Given the description of an element on the screen output the (x, y) to click on. 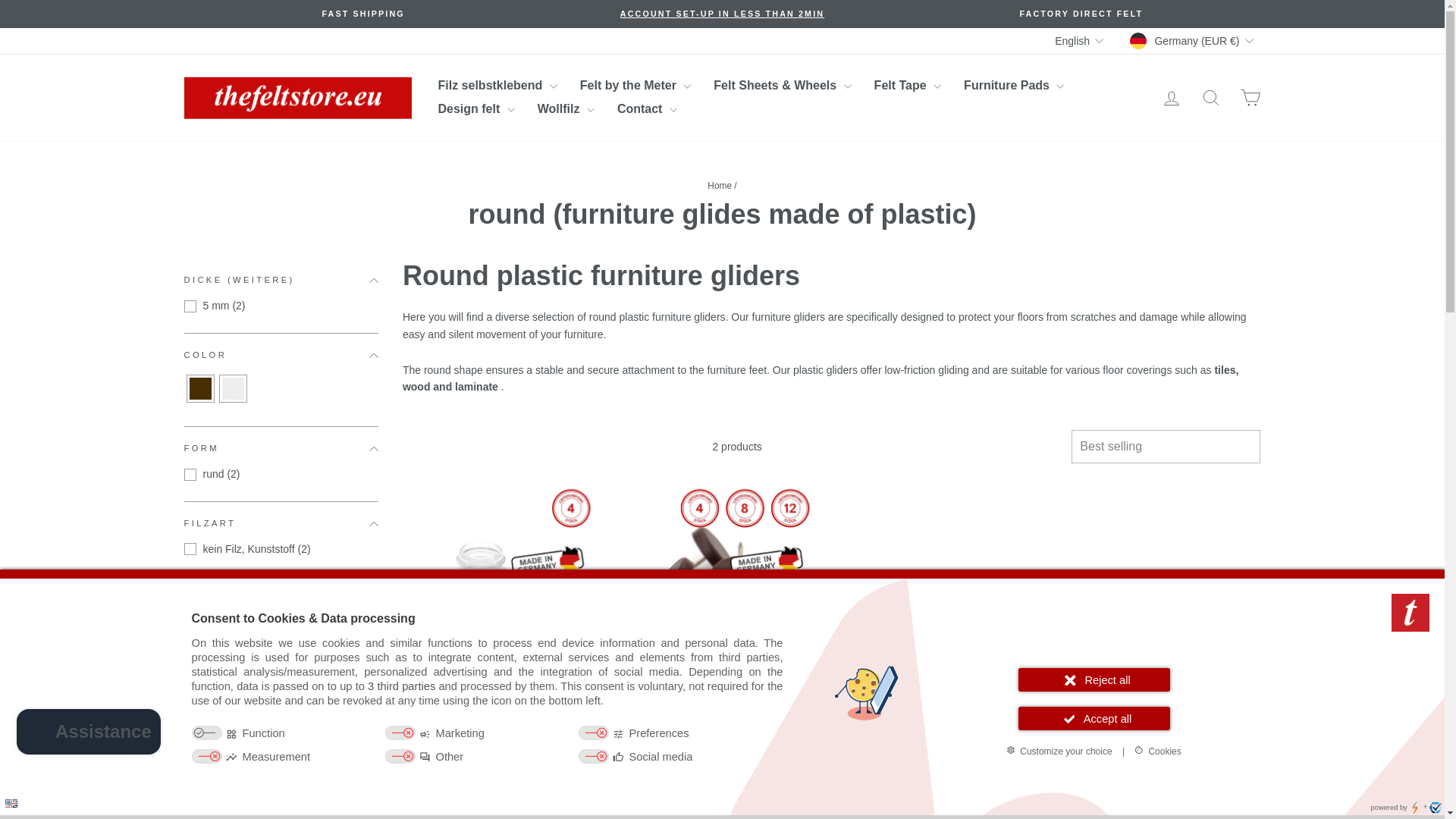
Privacy settings (17, 801)
3 third parties (401, 686)
Language: en (11, 803)
ACCOUNT SET-UP IN LESS THAN 2MIN (722, 13)
Customize your choice (1058, 750)
Language: en (11, 803)
Shopify online store chat (88, 733)
brown (199, 388)
Purpose (486, 746)
Back to the frontpage (719, 185)
Cookies (1157, 750)
Reject all (1093, 679)
Accept all (1093, 718)
white (232, 388)
